Given the description of an element on the screen output the (x, y) to click on. 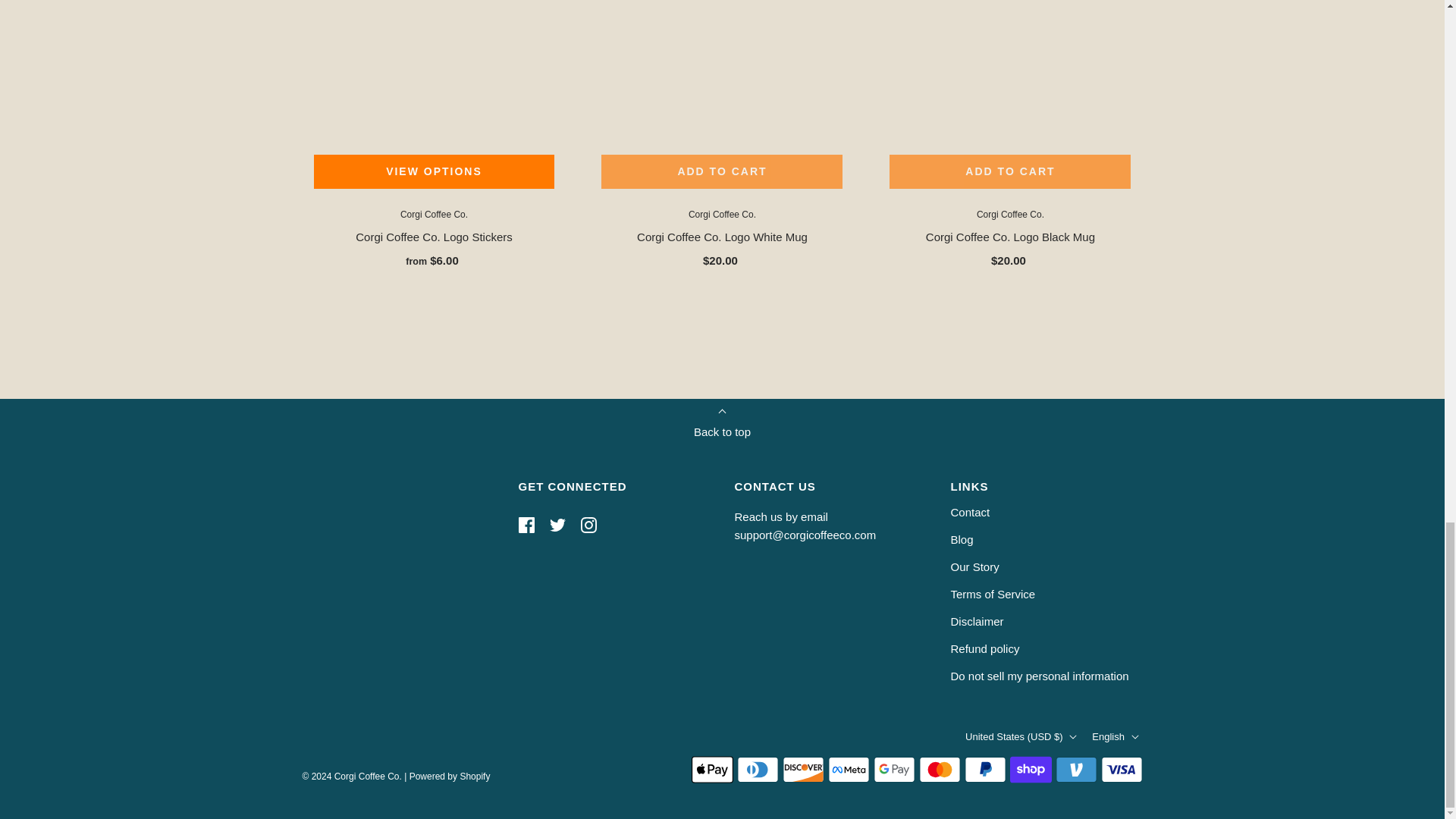
PayPal (984, 769)
Mastercard (939, 769)
Apple Pay (712, 769)
Google Pay (894, 769)
Corgi Coffee Co. (433, 214)
Meta Pay (848, 769)
Corgi Coffee Co. (721, 214)
Shop Pay (1030, 769)
Corgi Coffee Co. (1009, 214)
Facebook icon (526, 524)
Twitter icon (556, 524)
Instagram icon (588, 524)
Diners Club (757, 769)
Discover (803, 769)
